Given the description of an element on the screen output the (x, y) to click on. 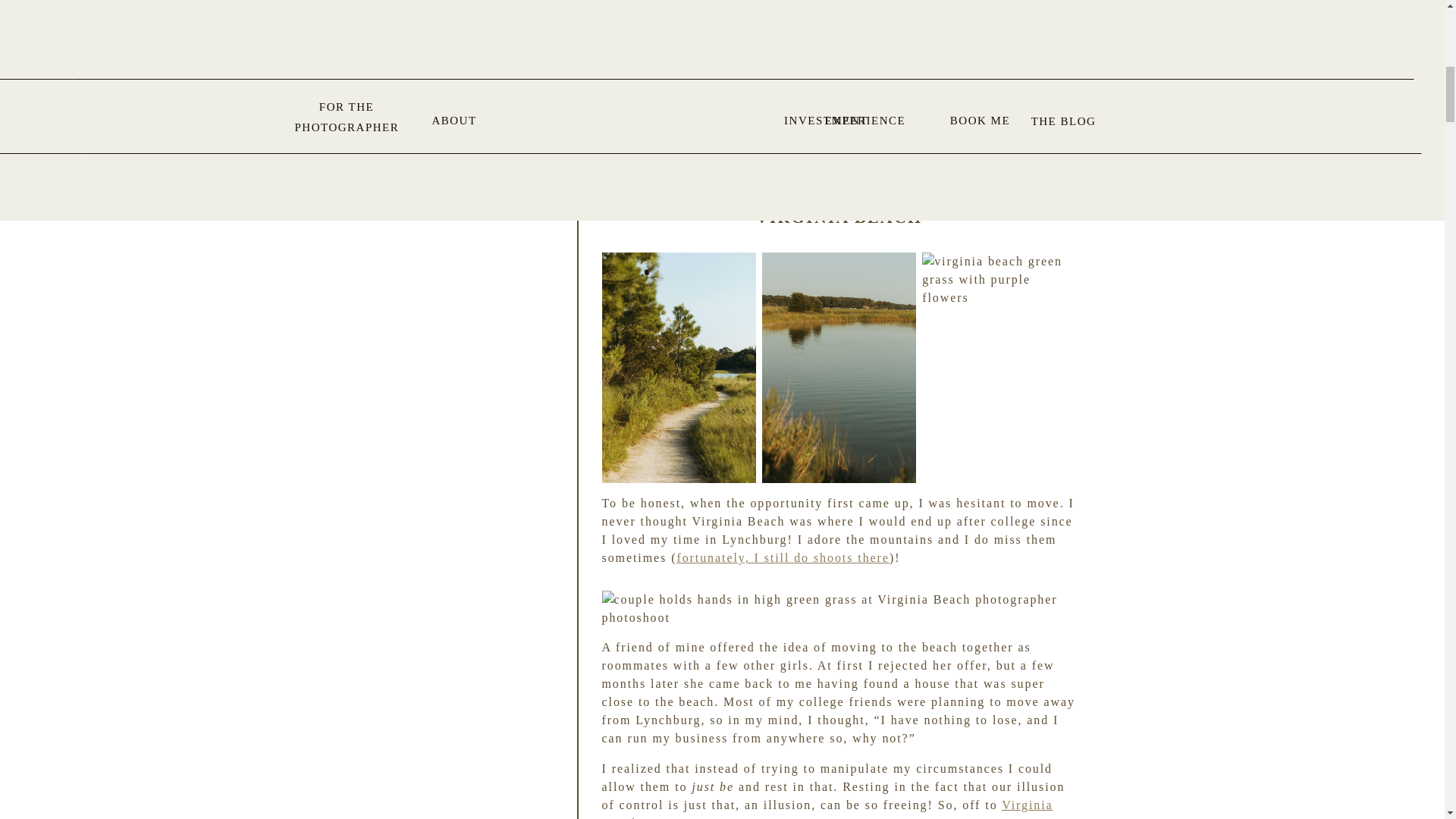
Virginia Beach (827, 808)
fortunately, I still do shoots there (783, 557)
